Given the description of an element on the screen output the (x, y) to click on. 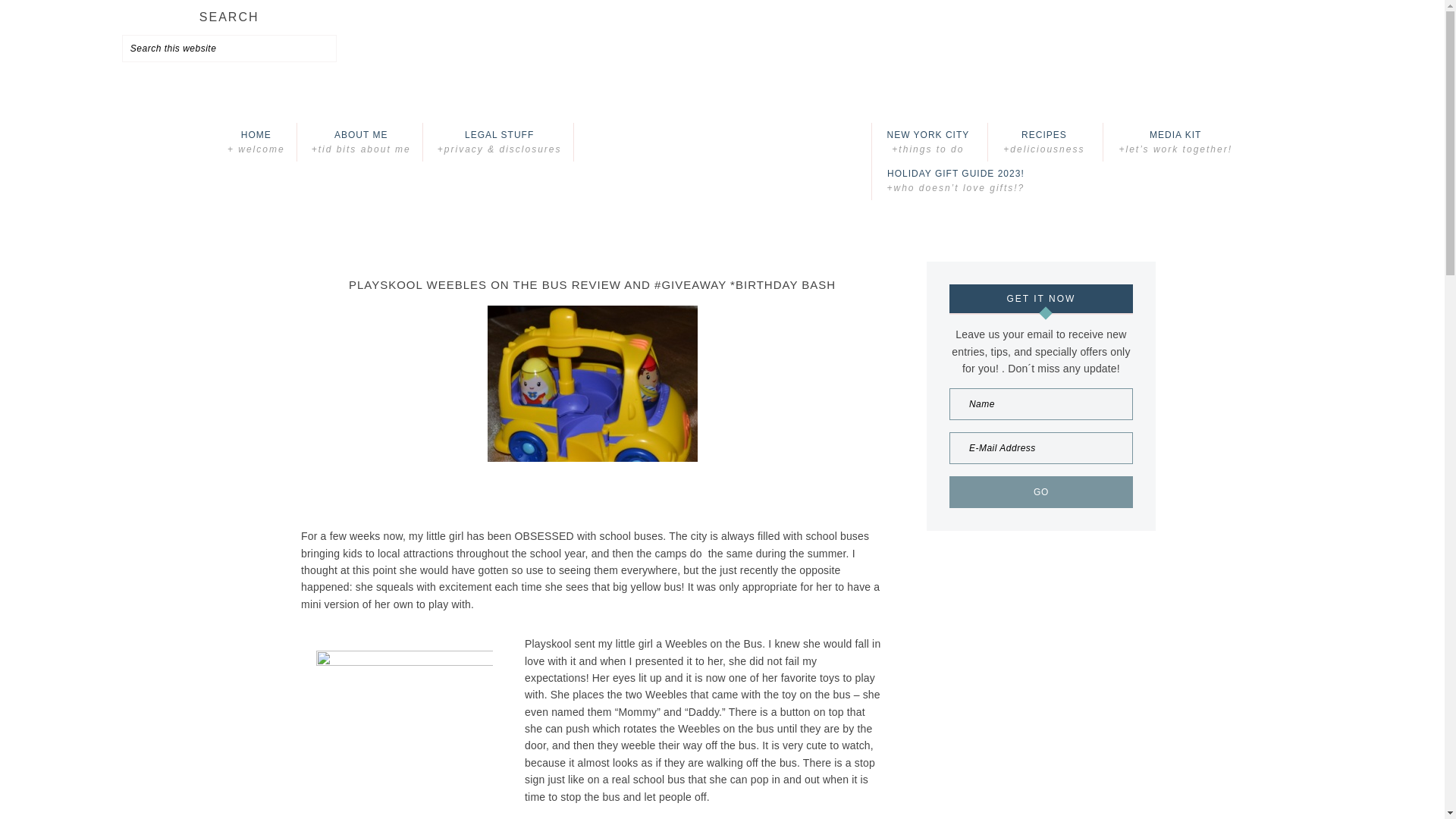
A TIME OUT FOR MOMMY (722, 142)
Go (1040, 491)
